Given the description of an element on the screen output the (x, y) to click on. 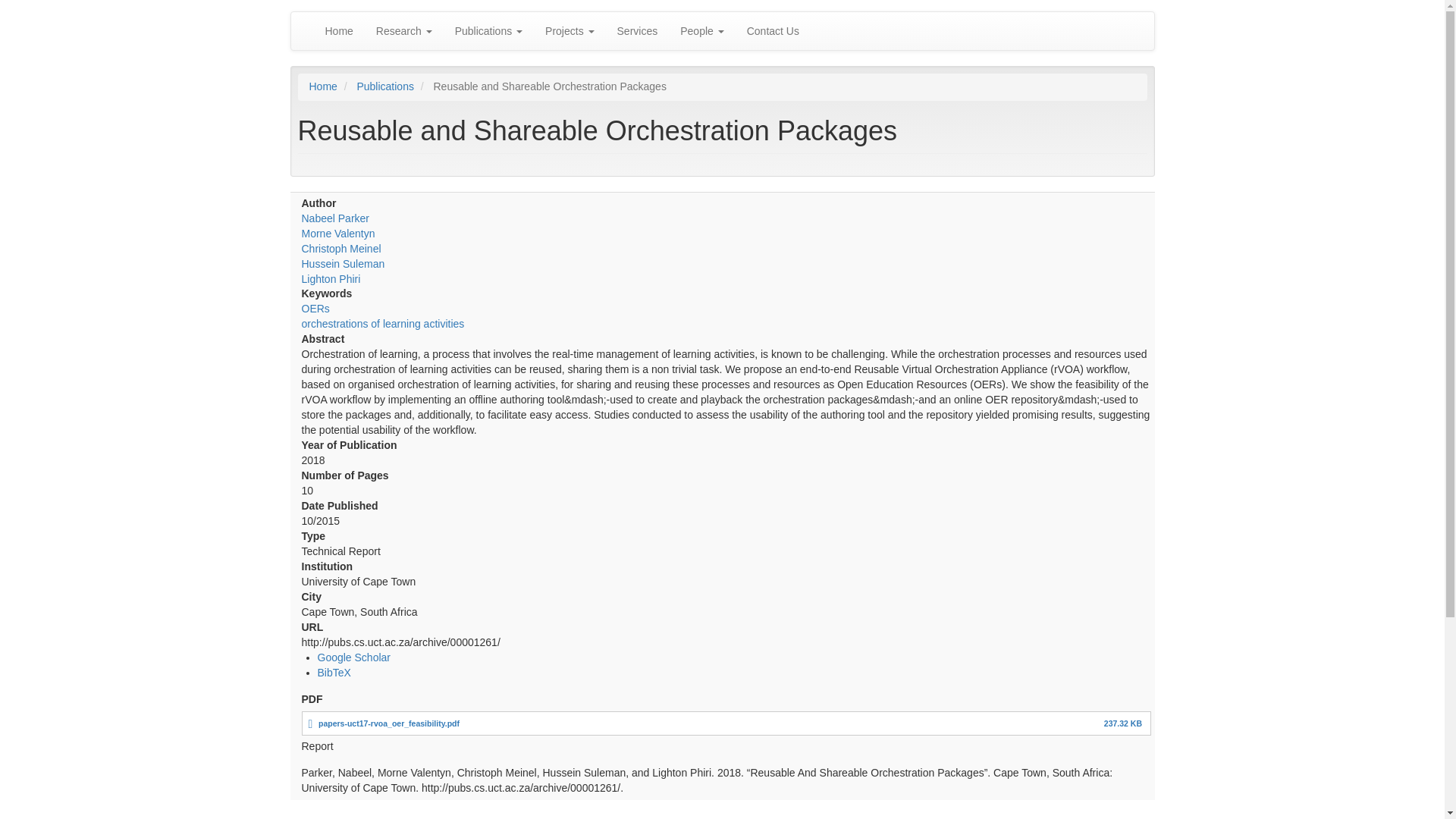
Projects (569, 30)
DataLab Publications (489, 30)
Services (637, 30)
Home (339, 30)
Christoph Meinel (341, 248)
OERs (315, 308)
Home (322, 86)
DataLab Services (637, 30)
Nabeel Parker (335, 218)
Contact Us (772, 30)
